Given the description of an element on the screen output the (x, y) to click on. 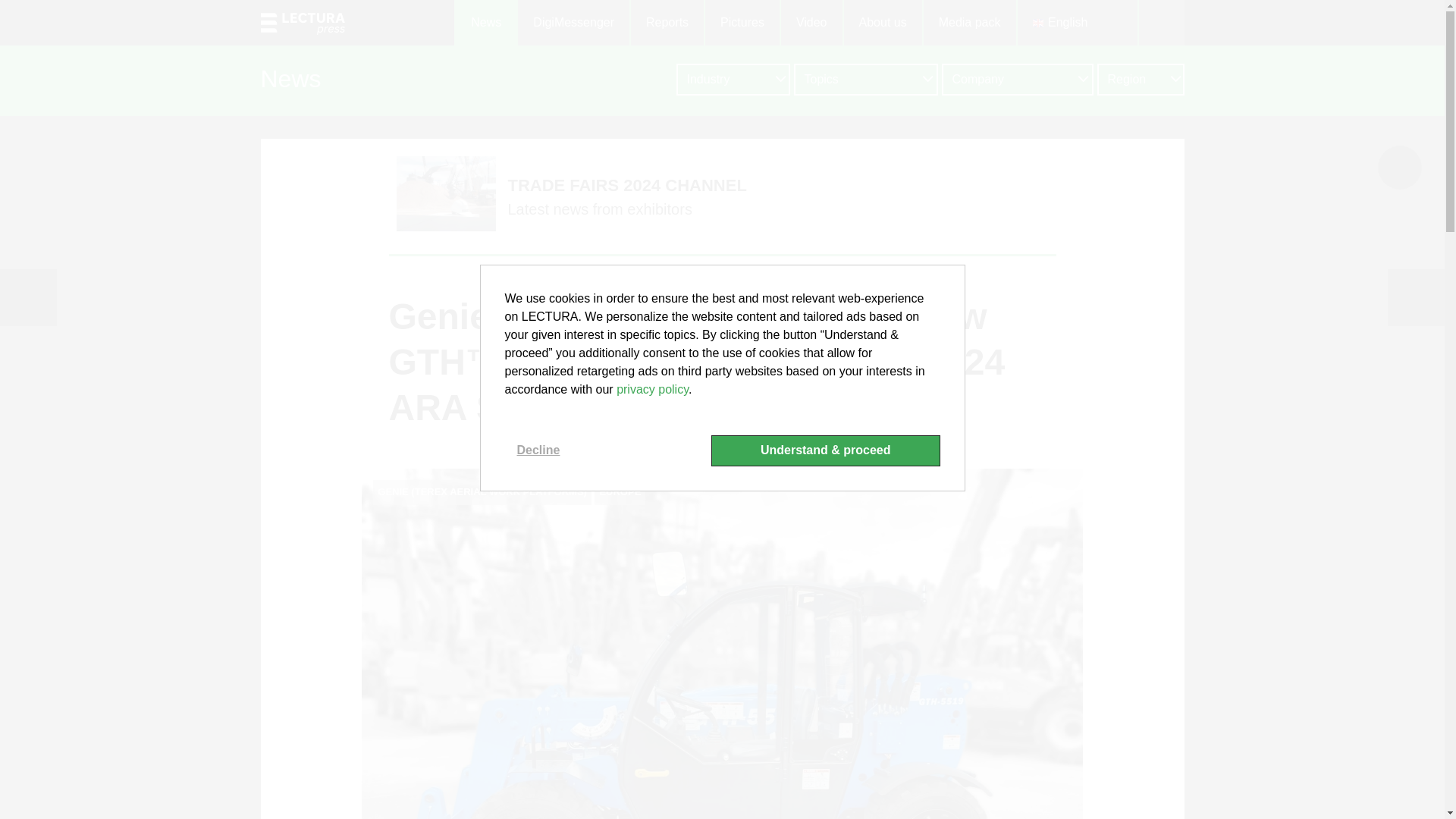
Pictures (740, 22)
Reports (665, 22)
DigiMessenger (572, 22)
English (1076, 22)
Video (810, 22)
About us (882, 22)
Media pack (968, 22)
News (485, 22)
